Given the description of an element on the screen output the (x, y) to click on. 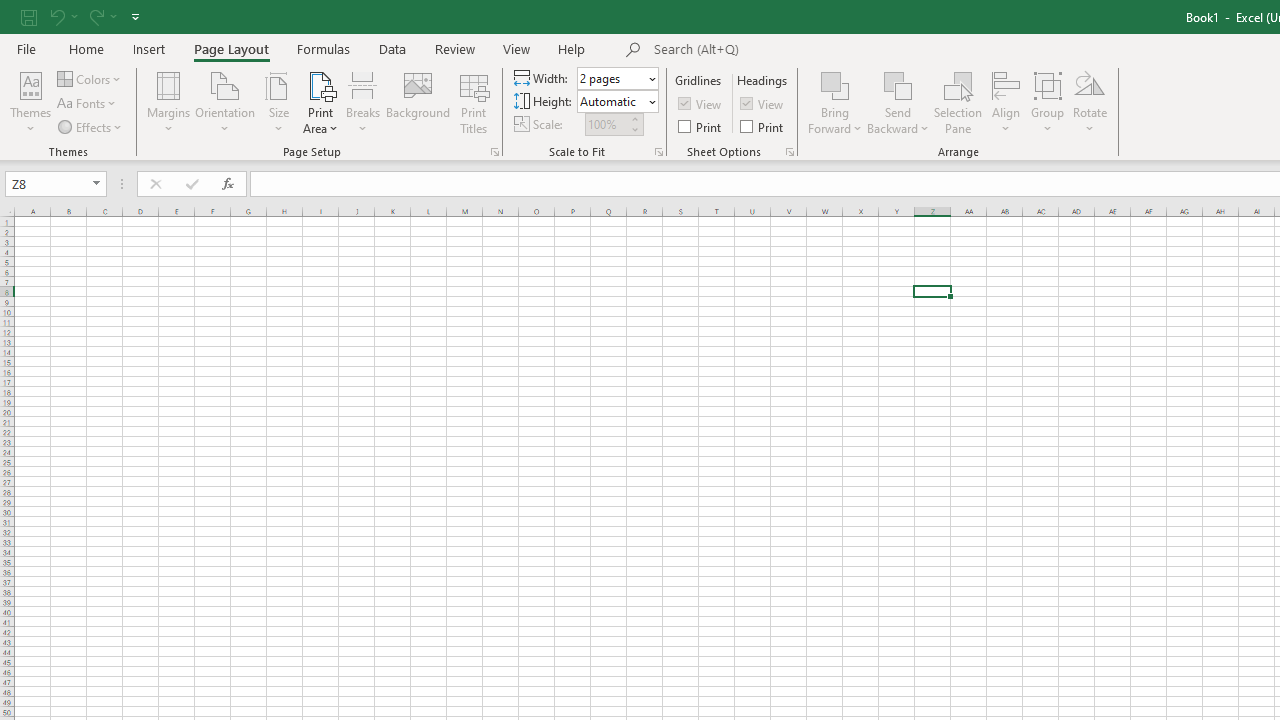
Breaks (362, 102)
Effects (91, 126)
Height (618, 101)
Print (763, 126)
Selection Pane... (958, 102)
Colors (90, 78)
